Given the description of an element on the screen output the (x, y) to click on. 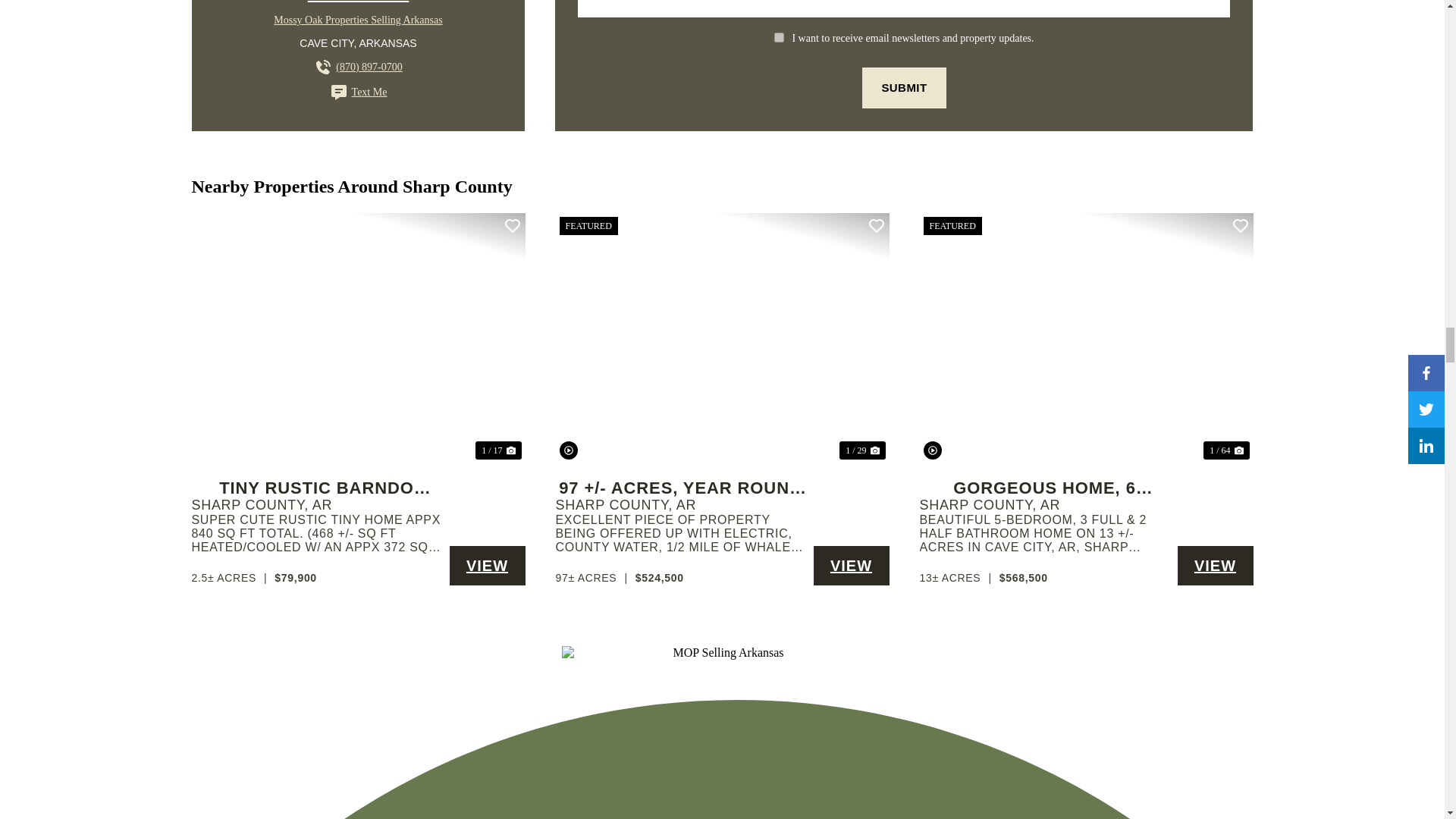
Save (512, 226)
Mossy Oak Properties Selling Arkansas (357, 19)
Submit (902, 87)
1 (779, 37)
Pamela Welch (358, 1)
